Given the description of an element on the screen output the (x, y) to click on. 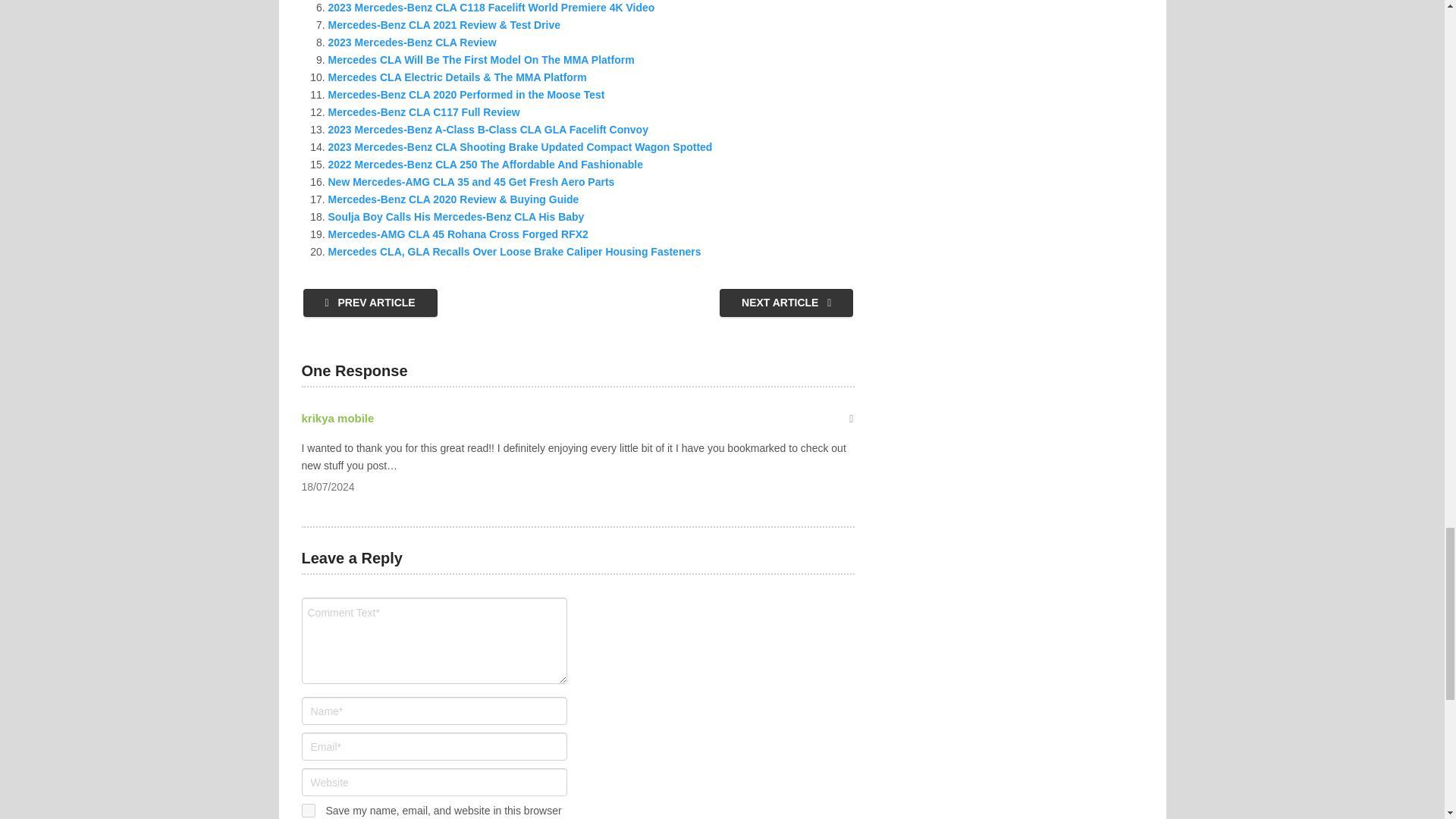
yes (308, 810)
